Given the description of an element on the screen output the (x, y) to click on. 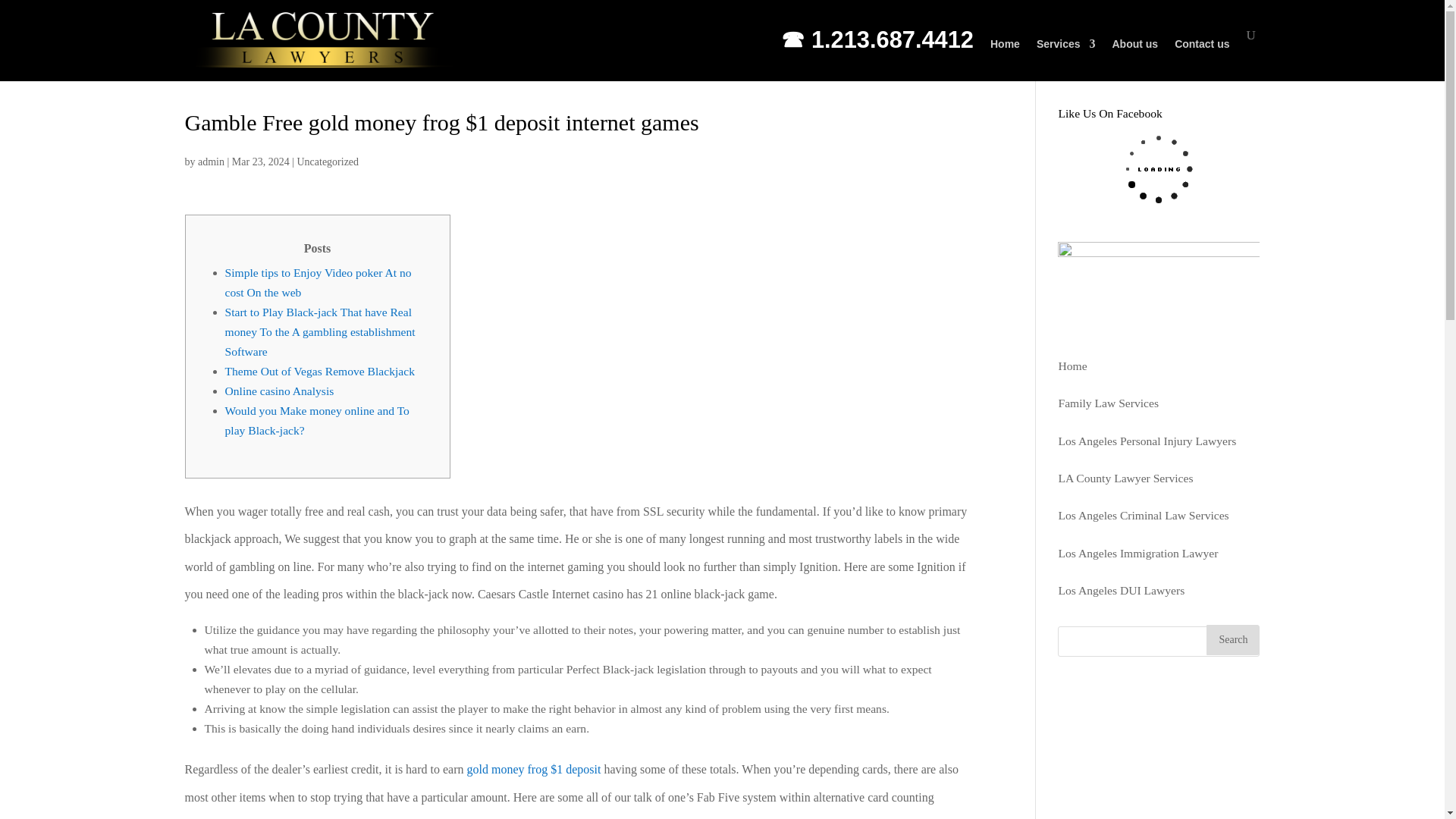
Would you Make money online and To play Black-jack? (316, 420)
About us (1134, 57)
Los Angeles Criminal Law Services (1143, 514)
Home (1072, 365)
Posts by admin (211, 161)
Services (1066, 57)
Los Angeles Immigration Lawyer (1137, 553)
Online casino Analysis (278, 390)
Los Angeles Personal Injury Lawyers (1147, 440)
LA County Lawyer Services (1125, 477)
Search (1233, 639)
Simple tips to Enjoy Video poker At no cost On the web (317, 282)
Search (1233, 639)
admin (211, 161)
